Given the description of an element on the screen output the (x, y) to click on. 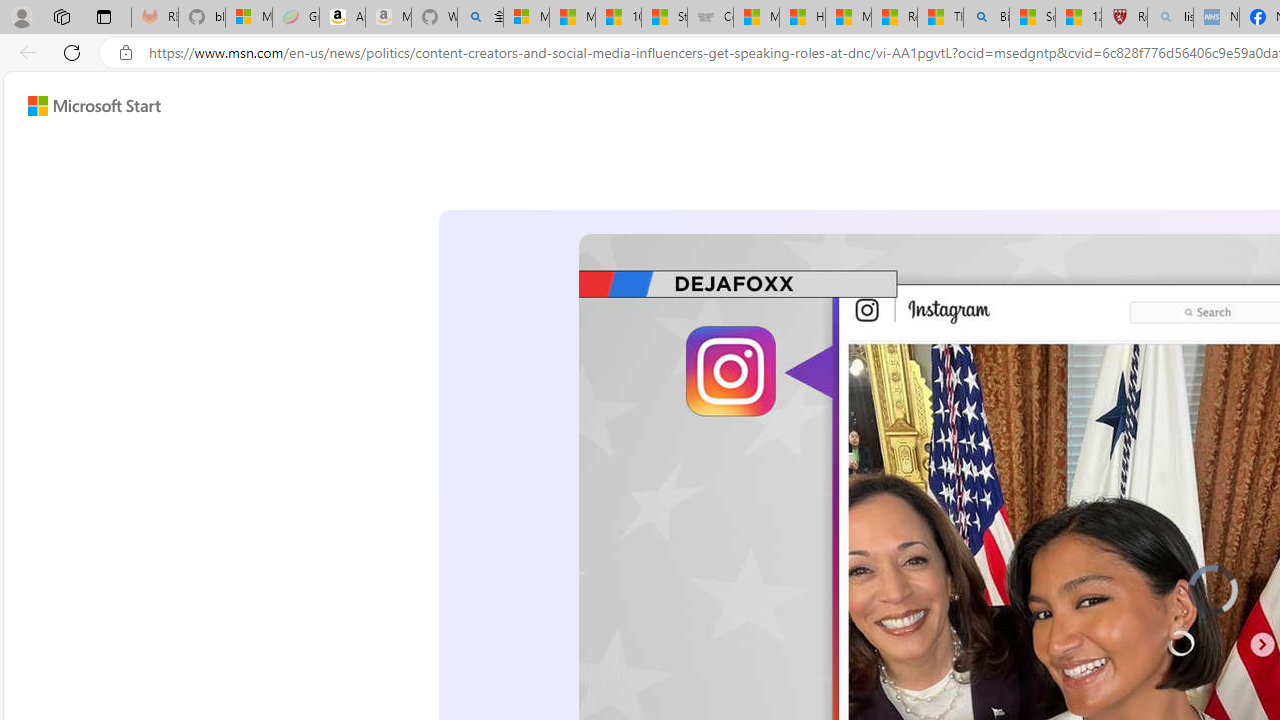
Bing (985, 17)
